Given the description of an element on the screen output the (x, y) to click on. 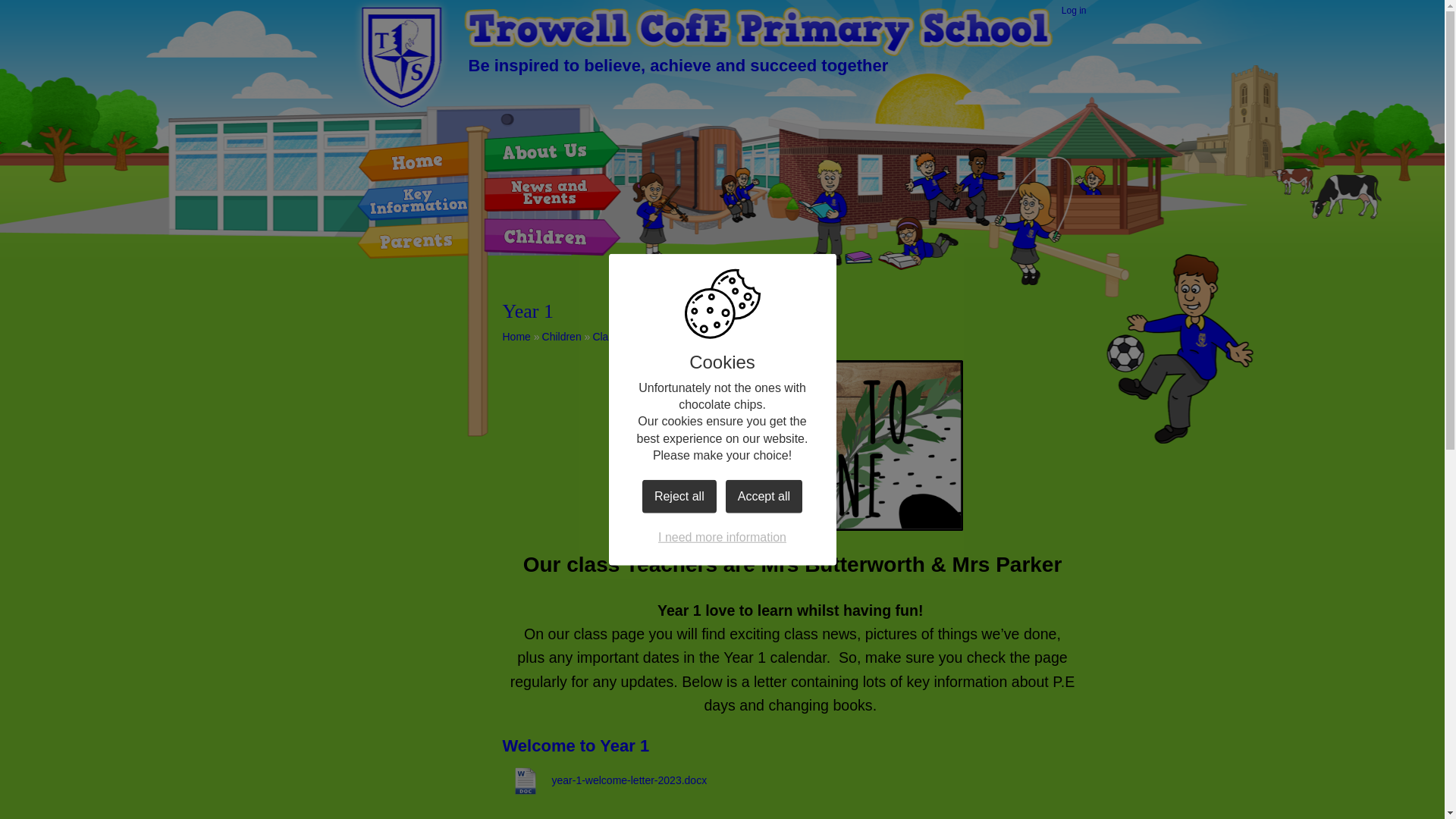
Class Pages (622, 336)
Key Information (418, 200)
Home (416, 160)
Home Page (757, 31)
Children (560, 336)
Home (515, 336)
Log in (1073, 11)
About Us (545, 152)
Home Page (757, 31)
year-1-welcome-letter-2023.docx (604, 780)
